Given the description of an element on the screen output the (x, y) to click on. 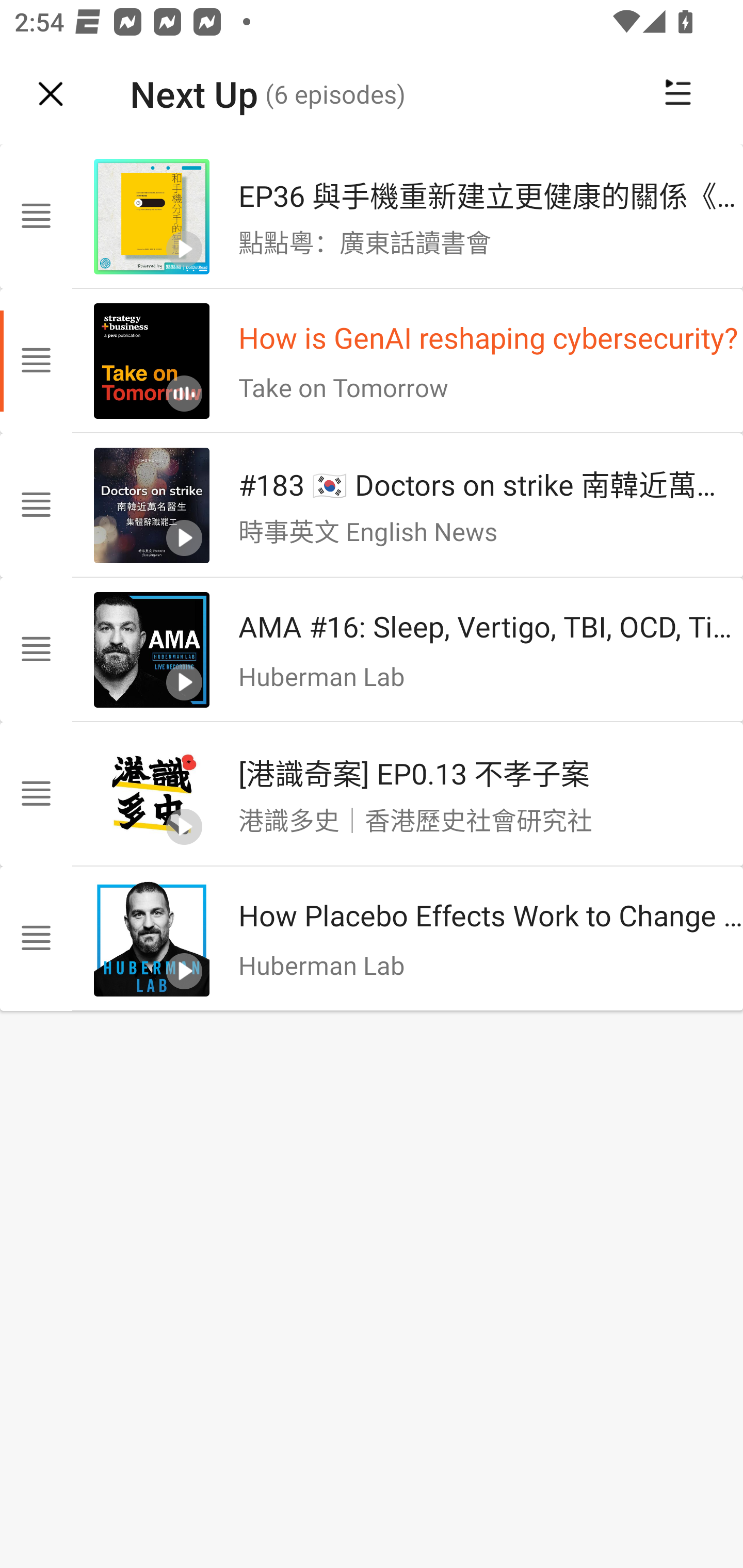
Navigate up (50, 93)
